Given the description of an element on the screen output the (x, y) to click on. 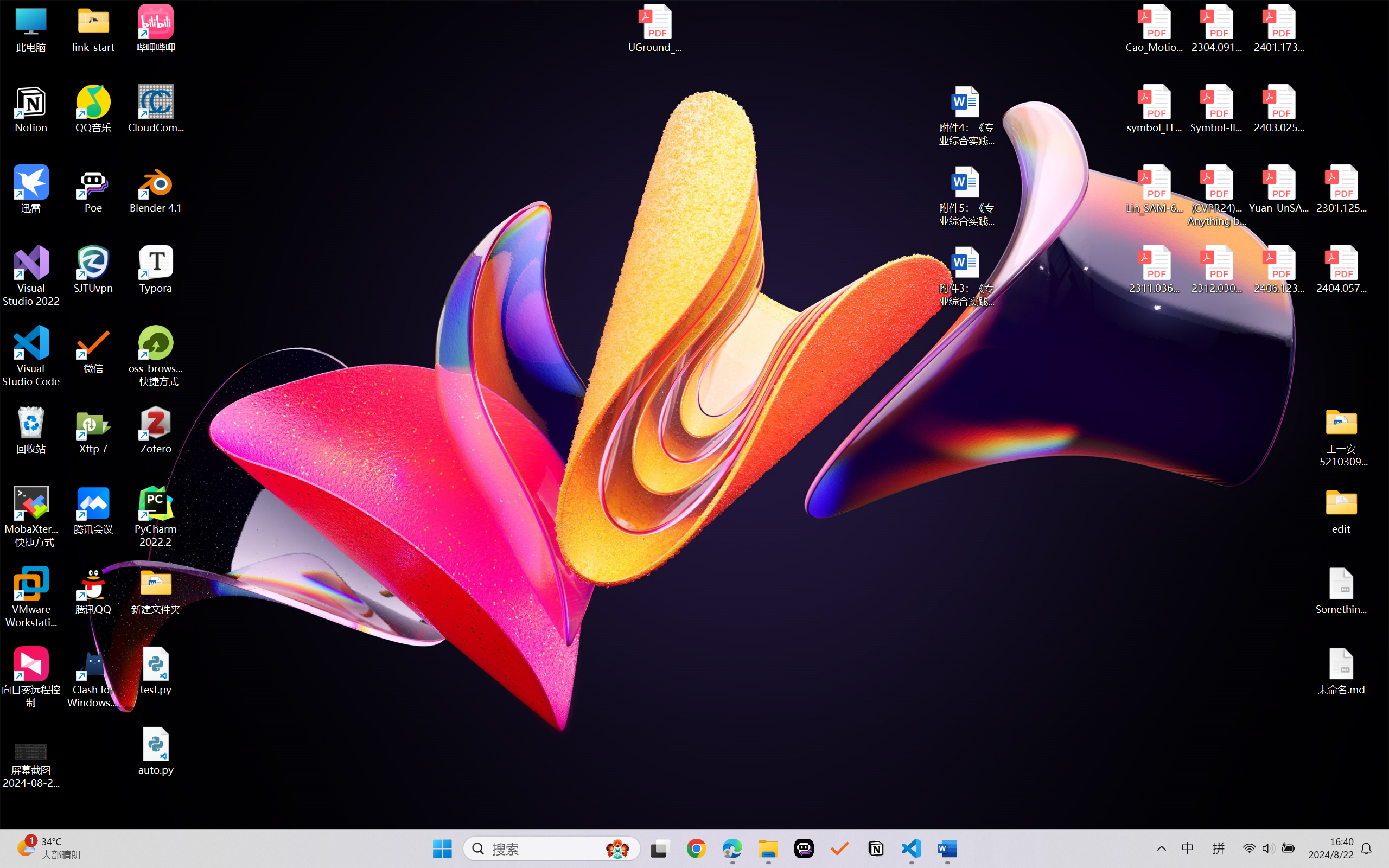
2403.02502v1.pdf (1278, 109)
CloudCompare (156, 109)
Visual Studio 2022 (31, 276)
Visual Studio Code (31, 355)
symbol_LLM.pdf (1154, 109)
2312.03032v2.pdf (1216, 269)
UGround_paper.pdf (654, 28)
2311.03658v2.pdf (1154, 269)
